Given the description of an element on the screen output the (x, y) to click on. 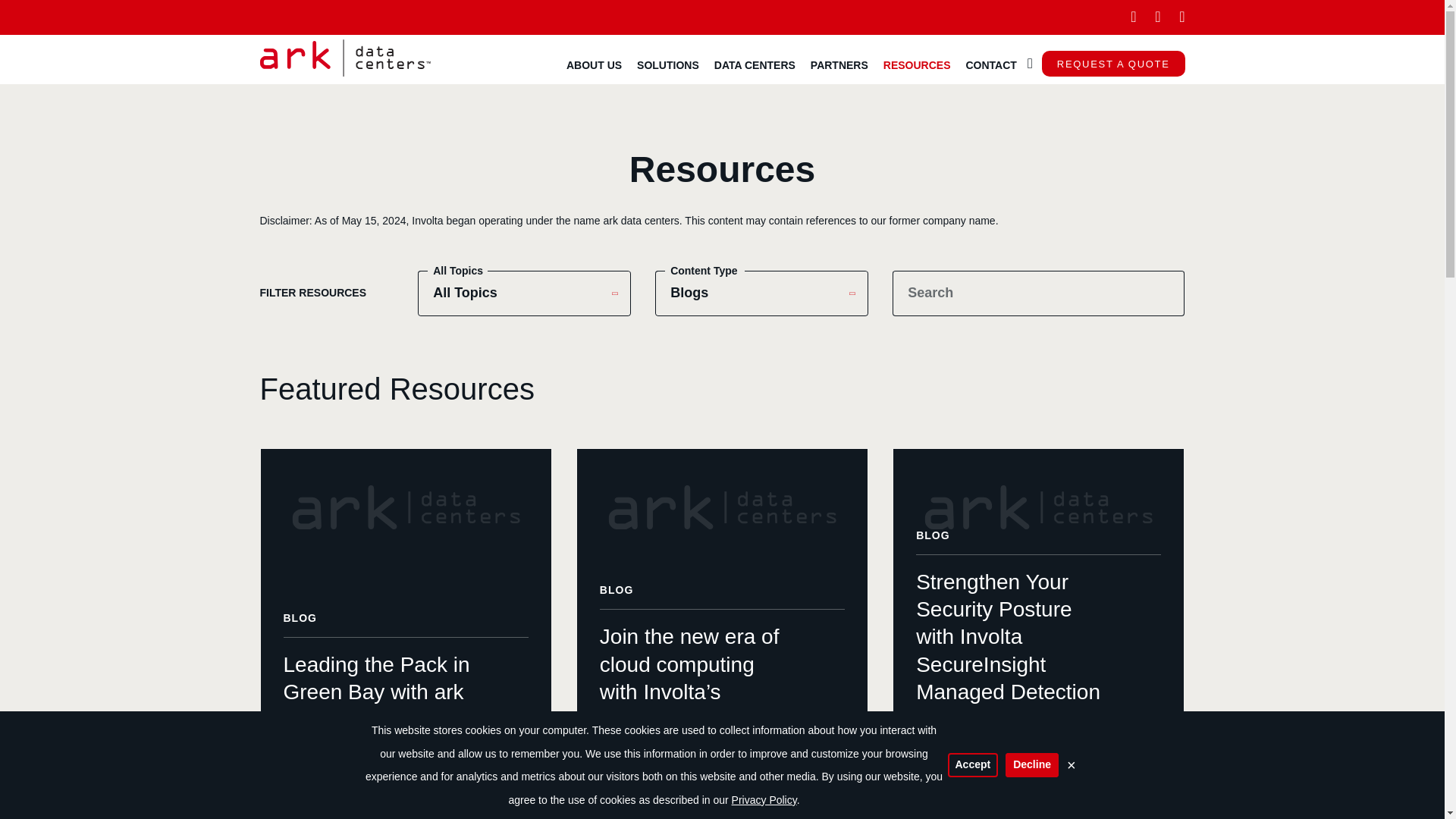
ABOUT US (593, 64)
DATA CENTERS (754, 64)
PARTNERS (839, 64)
SOLUTIONS (667, 64)
